Given the description of an element on the screen output the (x, y) to click on. 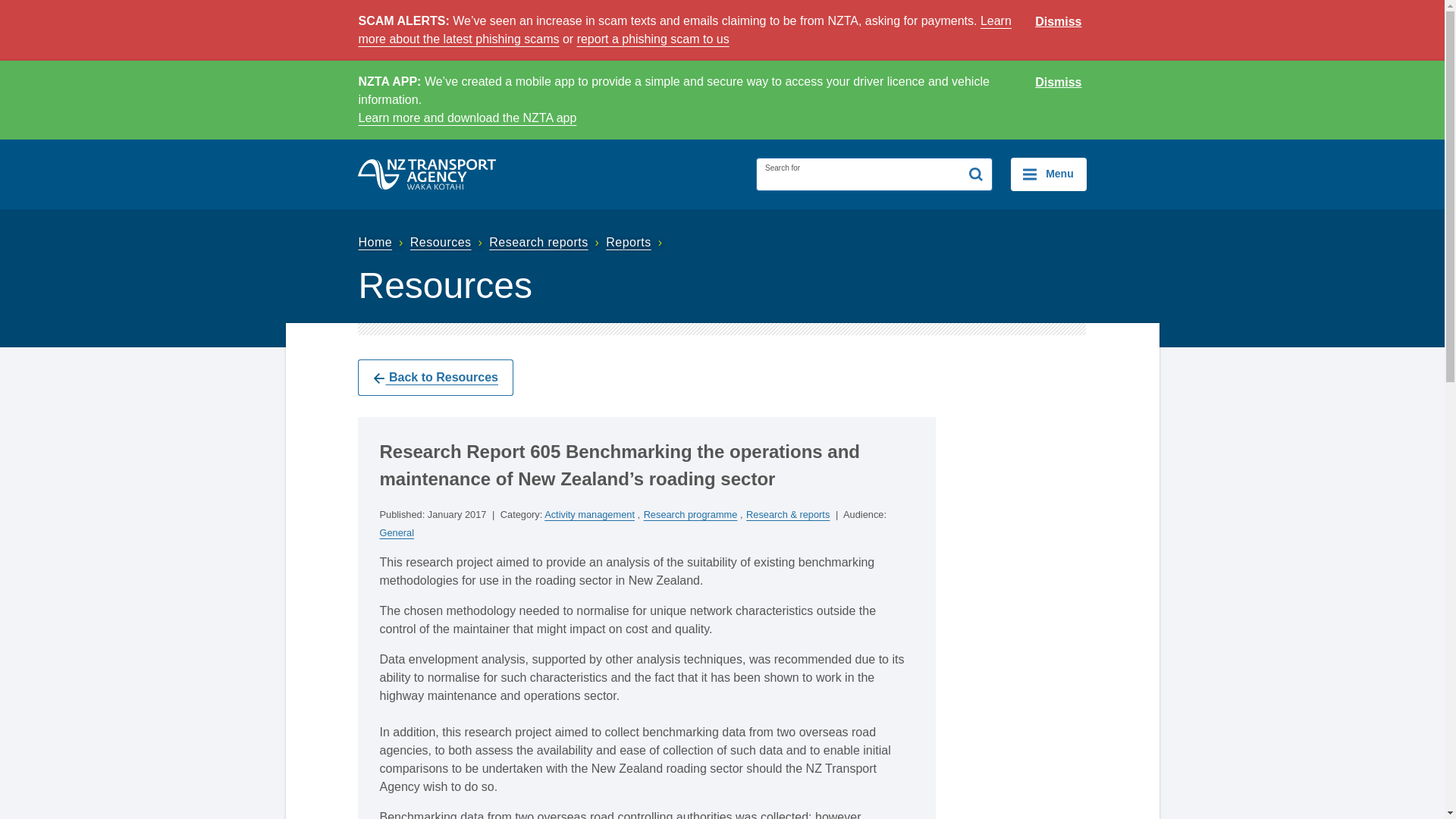
Menu (1048, 174)
Home (382, 241)
NZ Transport Agency Waka Kotahi (427, 173)
report a phishing scam to us (652, 38)
Dismiss (1058, 82)
Learn more about the latest phishing scams (684, 29)
Dismiss (1058, 21)
Learn more and download the NZTA app (467, 117)
